Given the description of an element on the screen output the (x, y) to click on. 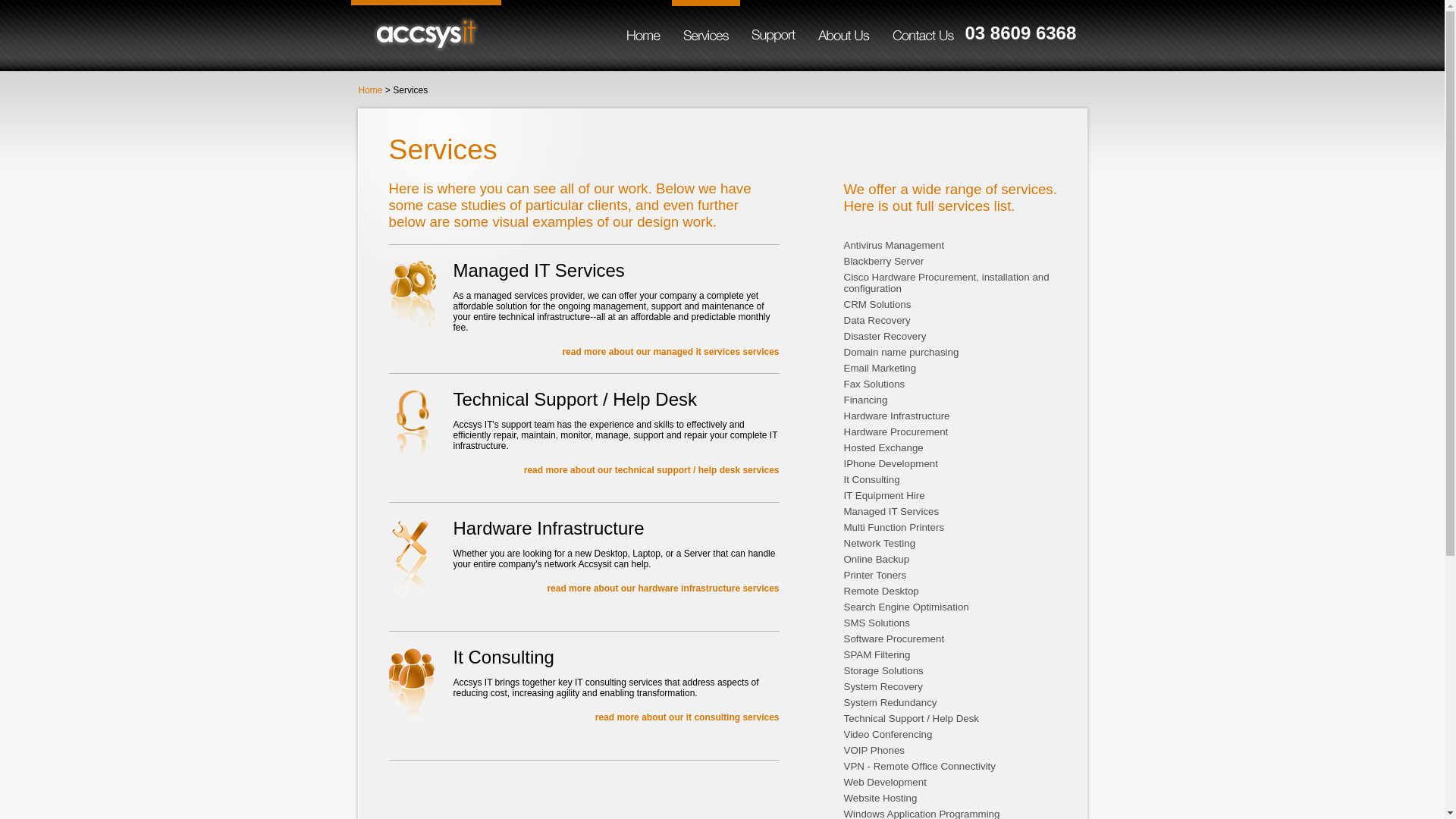
read more about our hardware infrastructure services Element type: text (662, 588)
Home Element type: text (369, 89)
read more about our managed it services services Element type: text (669, 351)
read more about our it consulting services Element type: text (687, 717)
read more about our technical support / help desk services Element type: text (651, 469)
